Given the description of an element on the screen output the (x, y) to click on. 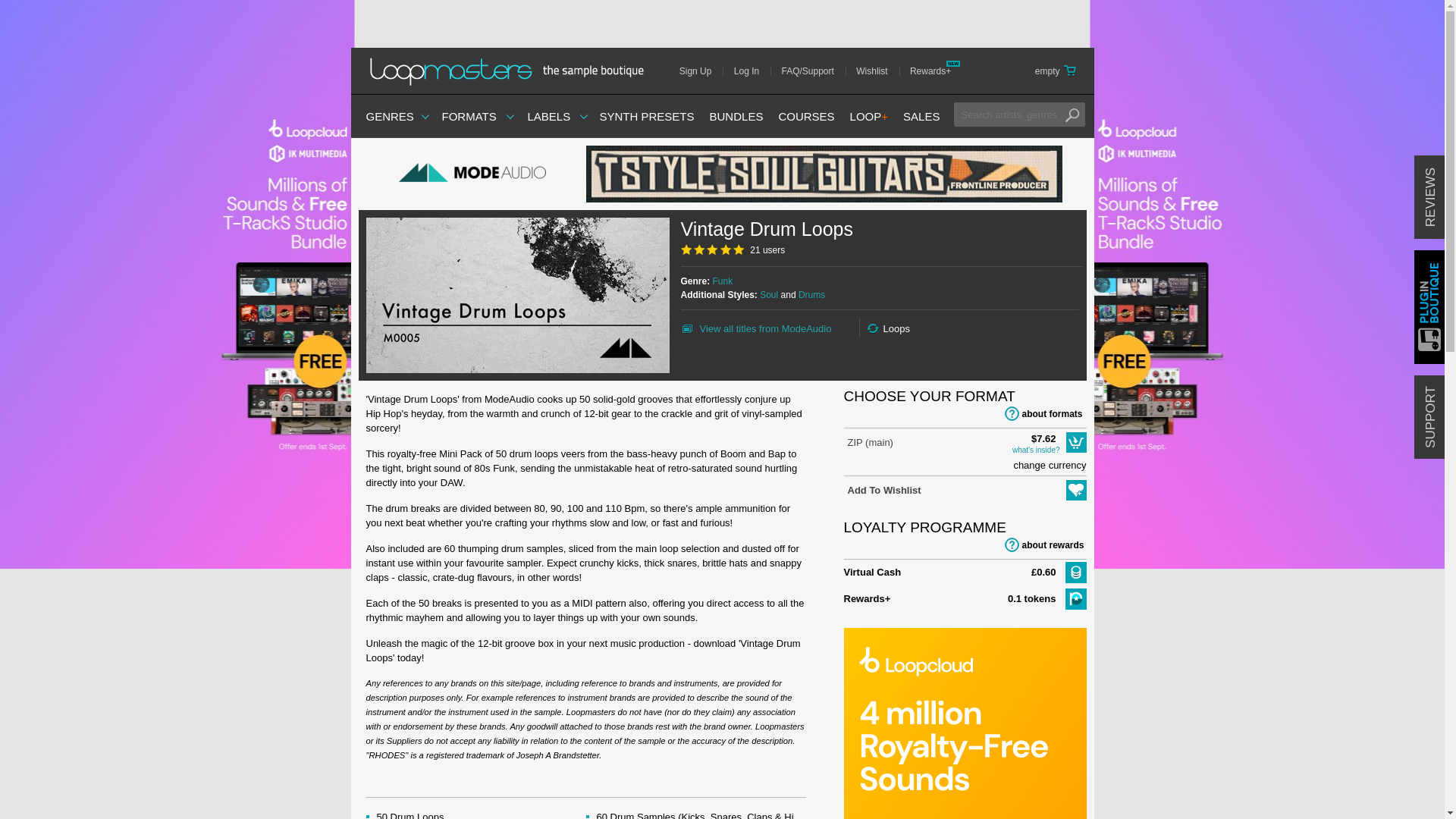
Sign Up (701, 71)
Wishlist (877, 71)
Wishlist (877, 71)
GENRES (389, 115)
Sign Up (701, 71)
Show all genres (389, 115)
Log In (752, 71)
Support and frequently questioned answers (812, 71)
Loopmasters - the sample boutique (511, 71)
Log In (752, 71)
